Given the description of an element on the screen output the (x, y) to click on. 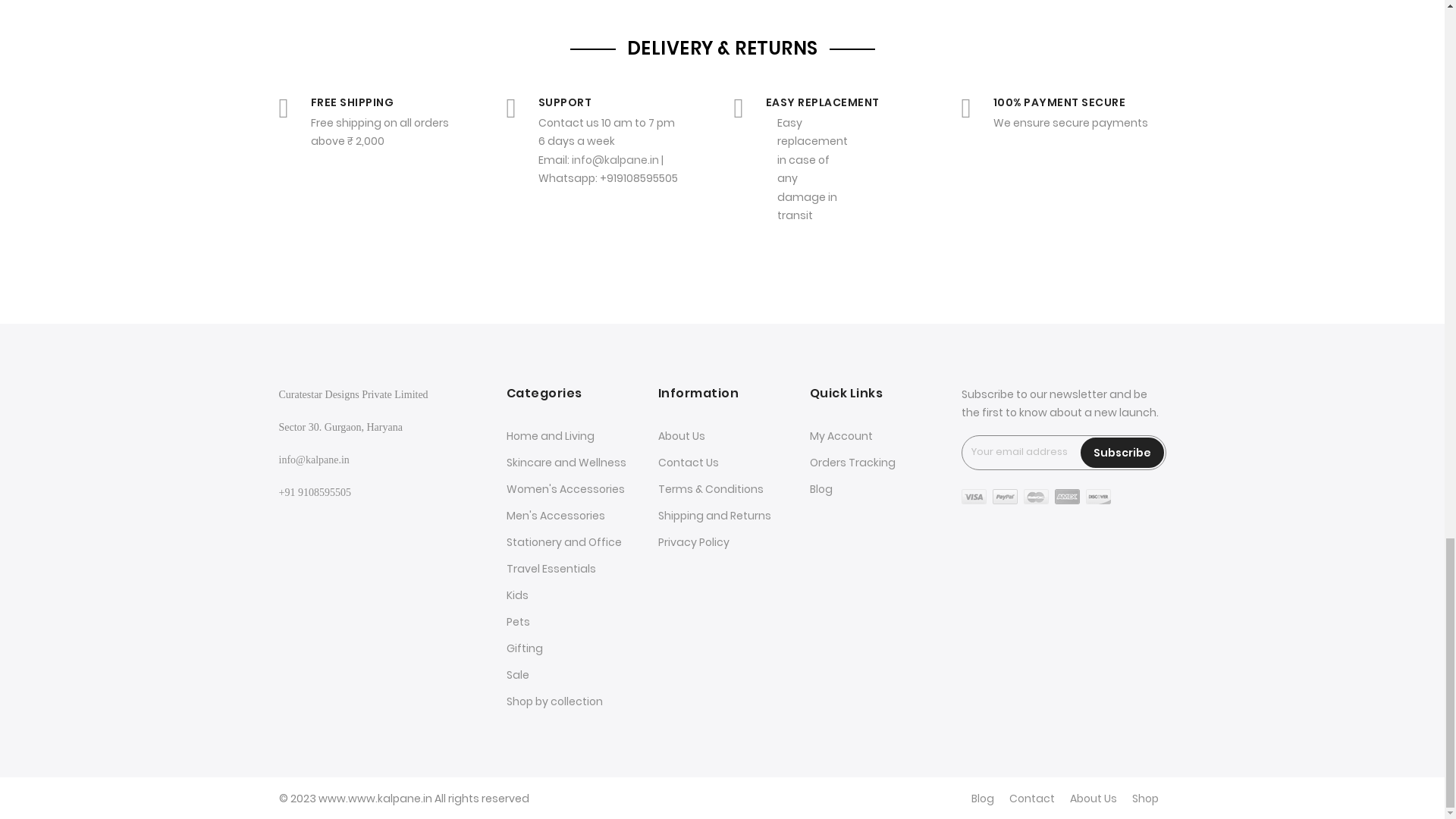
Subscribe (1121, 452)
